Given the description of an element on the screen output the (x, y) to click on. 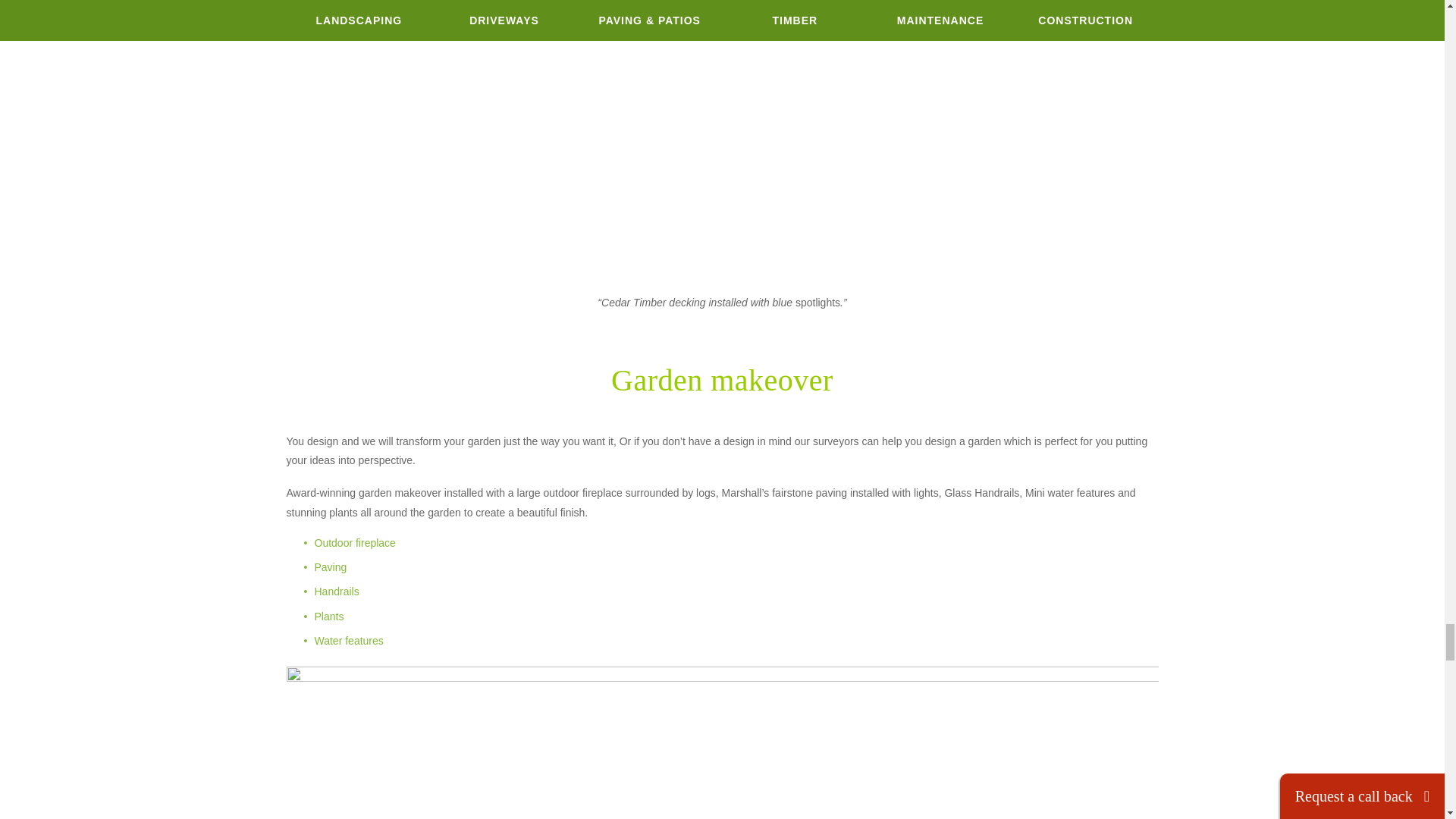
Outdoor fireplace  (355, 542)
